Given the description of an element on the screen output the (x, y) to click on. 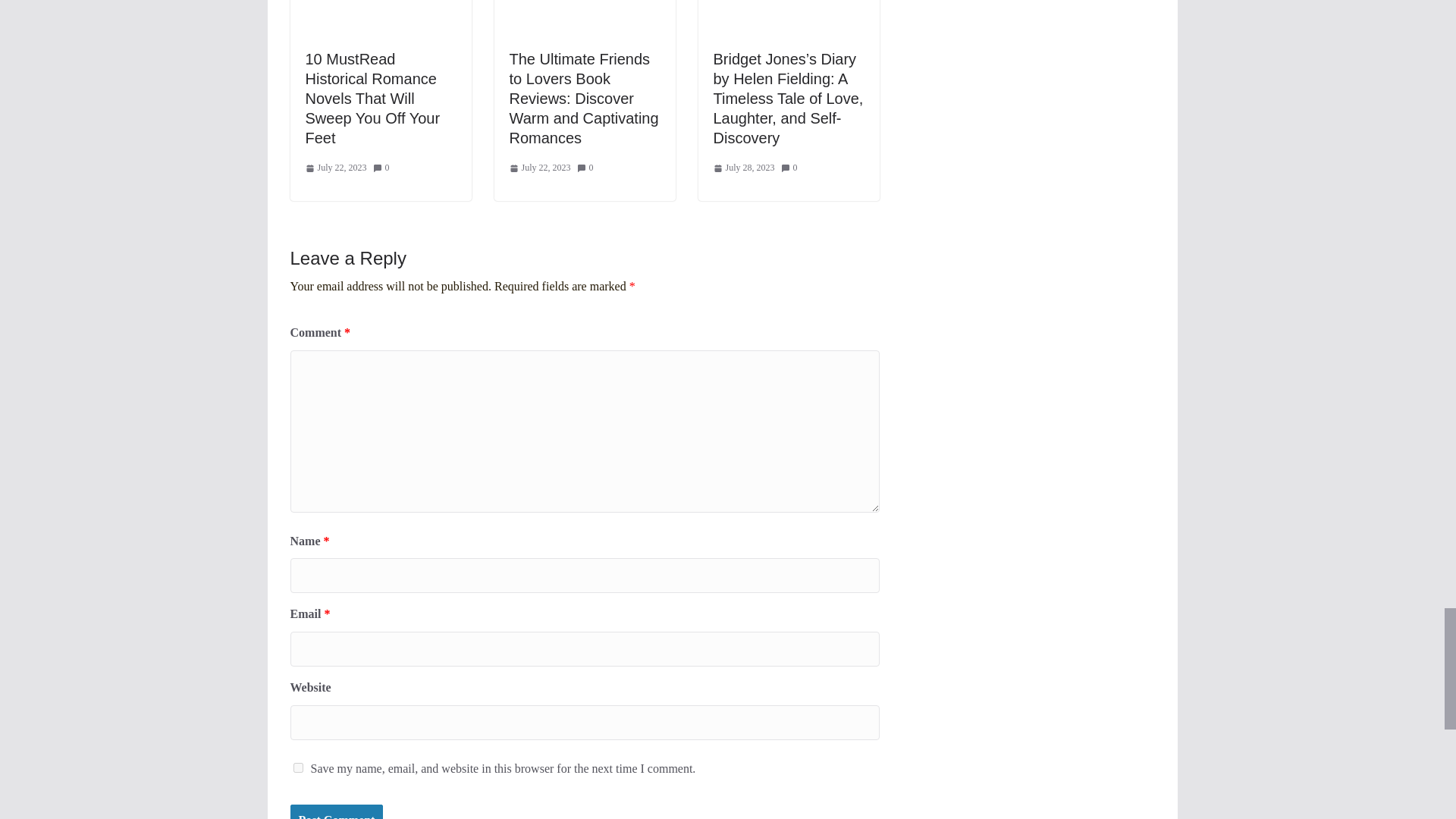
Post Comment (335, 811)
yes (297, 767)
